Given the description of an element on the screen output the (x, y) to click on. 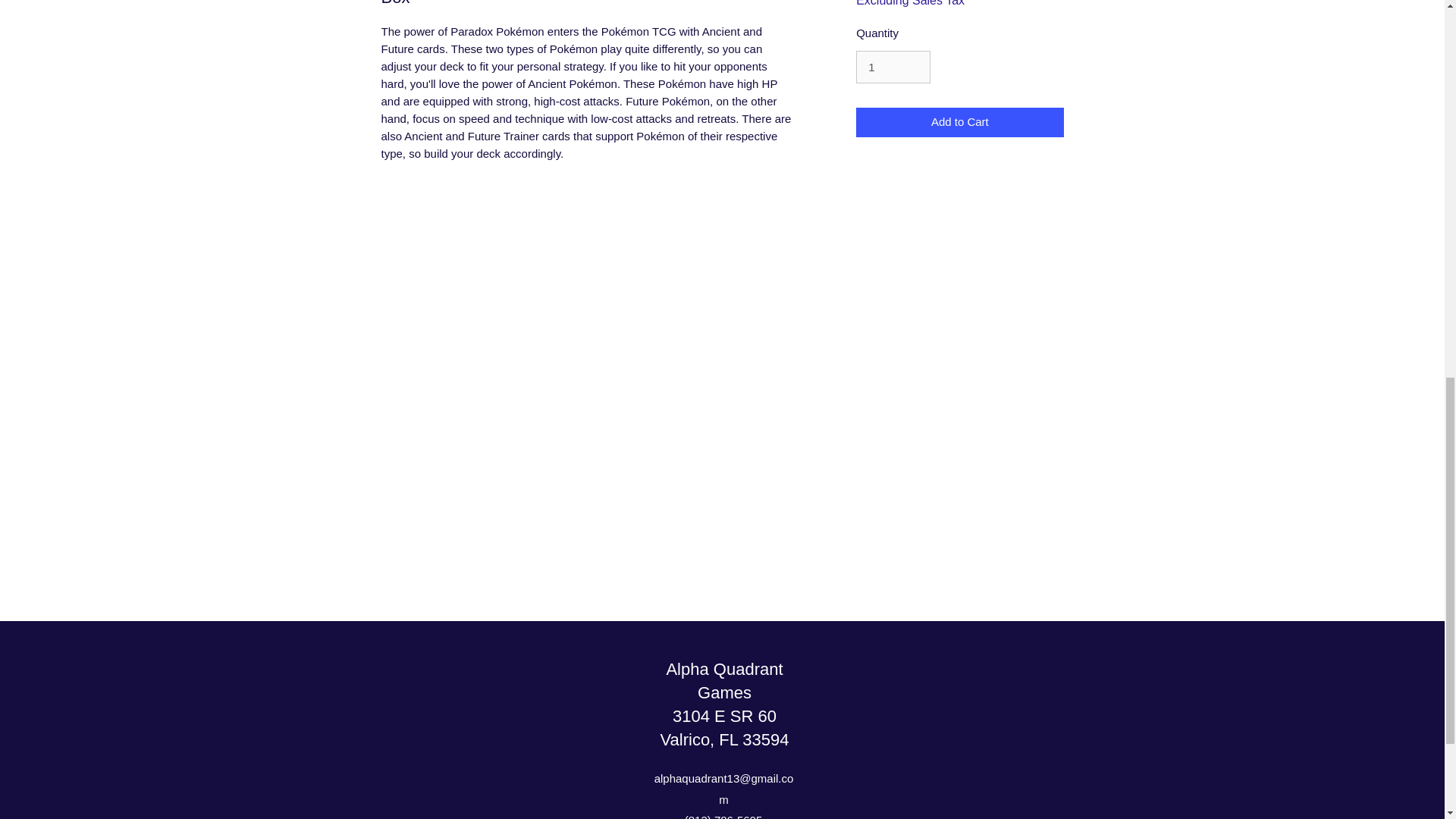
Add to Cart (959, 122)
Alpha Quadrant Games (724, 680)
1 (893, 67)
